Given the description of an element on the screen output the (x, y) to click on. 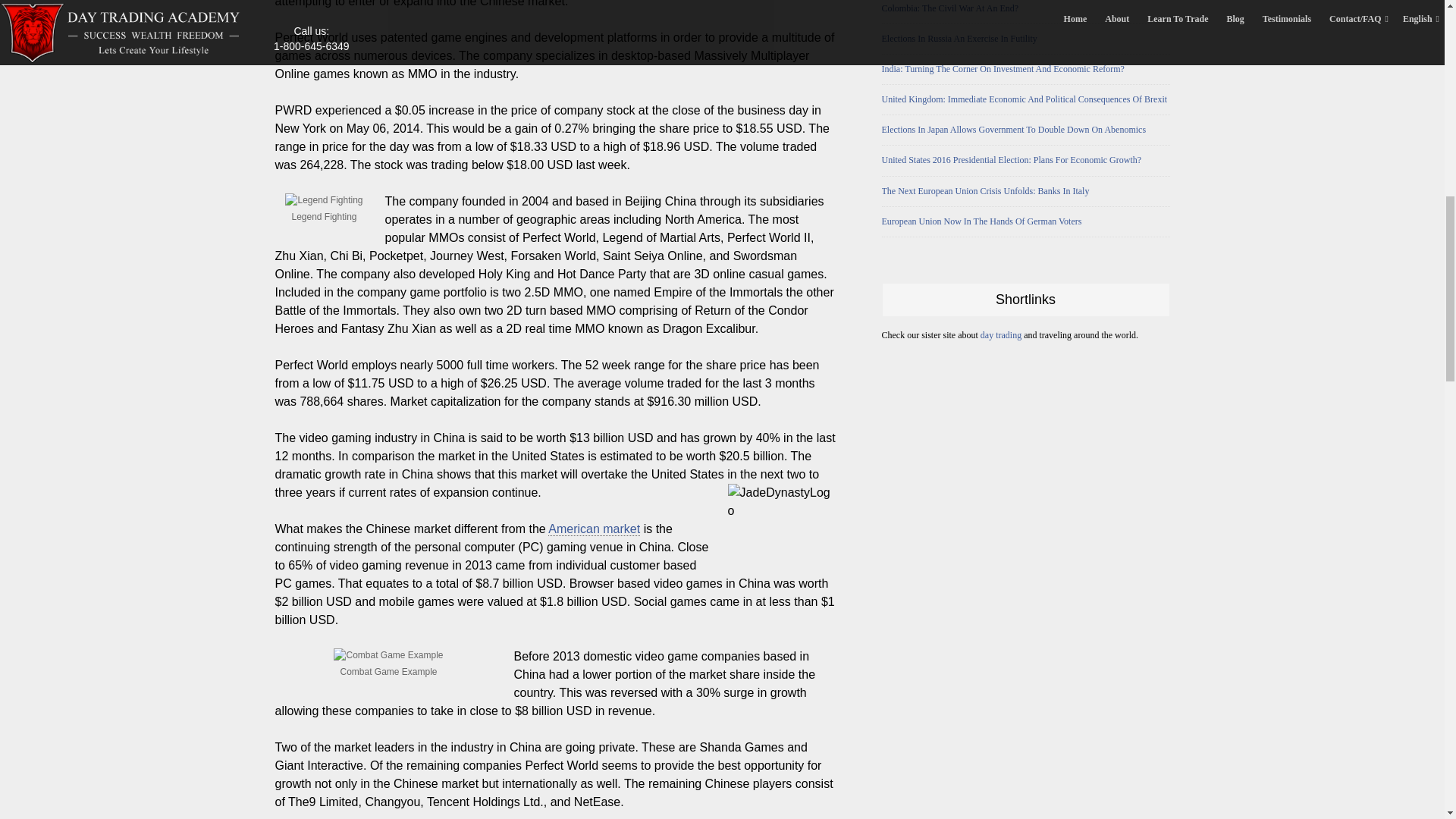
American market (594, 529)
Elections In Russia An Exercise In Futility (1024, 38)
day trading (1000, 335)
Collapse of A Superpower (594, 529)
European Union Now In The Hands Of German Voters (1024, 221)
The Next European Union Crisis Unfolds: Banks In Italy (1024, 191)
Colombia: The Civil War At An End? (1024, 8)
